Given the description of an element on the screen output the (x, y) to click on. 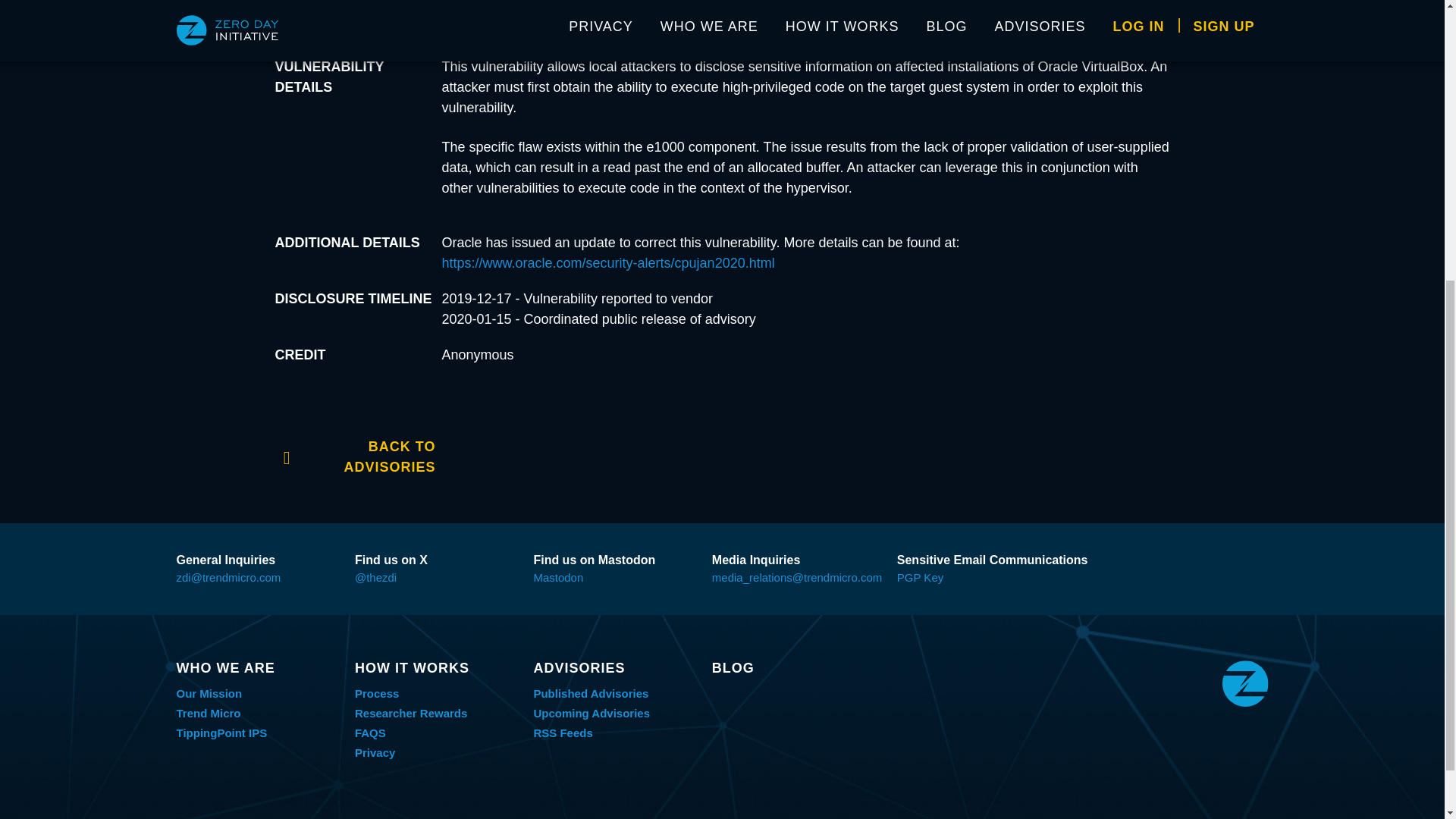
Trend Micro (208, 712)
PGP Key (919, 576)
Published Advisories (589, 693)
WHO WE ARE (257, 668)
RSS Feeds (562, 732)
Researcher Rewards (411, 712)
HOW IT WORKS (436, 668)
Upcoming Advisories (590, 712)
Mastodon (557, 576)
ADVISORIES (614, 668)
Oracle (461, 1)
Process (376, 693)
Our Mission (208, 693)
FAQS (370, 732)
TippingPoint IPS (221, 732)
